Given the description of an element on the screen output the (x, y) to click on. 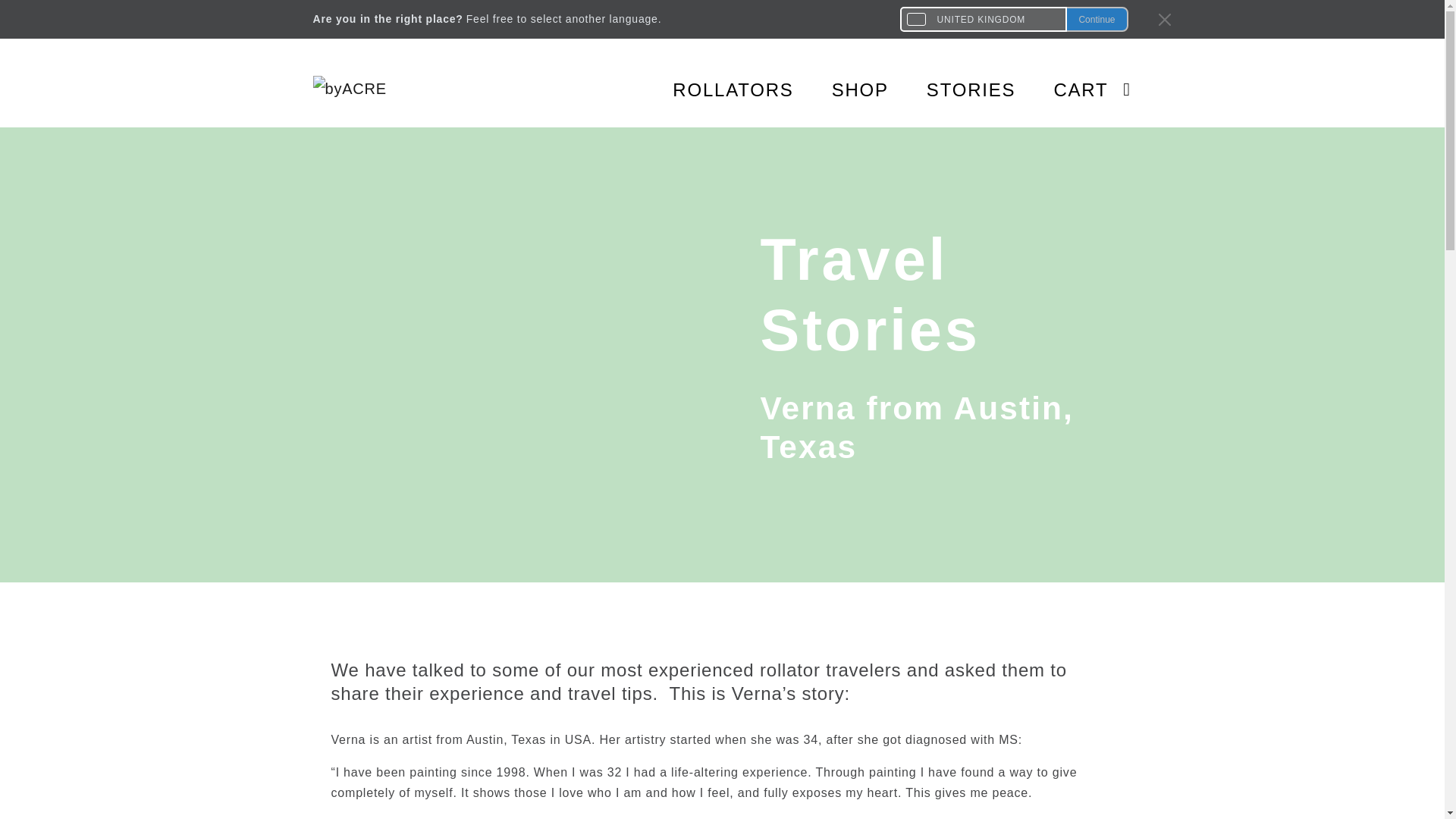
Cart (1076, 89)
STORIES (952, 89)
SHOP (840, 89)
Stories (952, 89)
byACRE (366, 90)
Shop (840, 89)
Continue (1095, 18)
CART (1076, 89)
ROLLATORS (713, 89)
Rollators (713, 89)
